Given the description of an element on the screen output the (x, y) to click on. 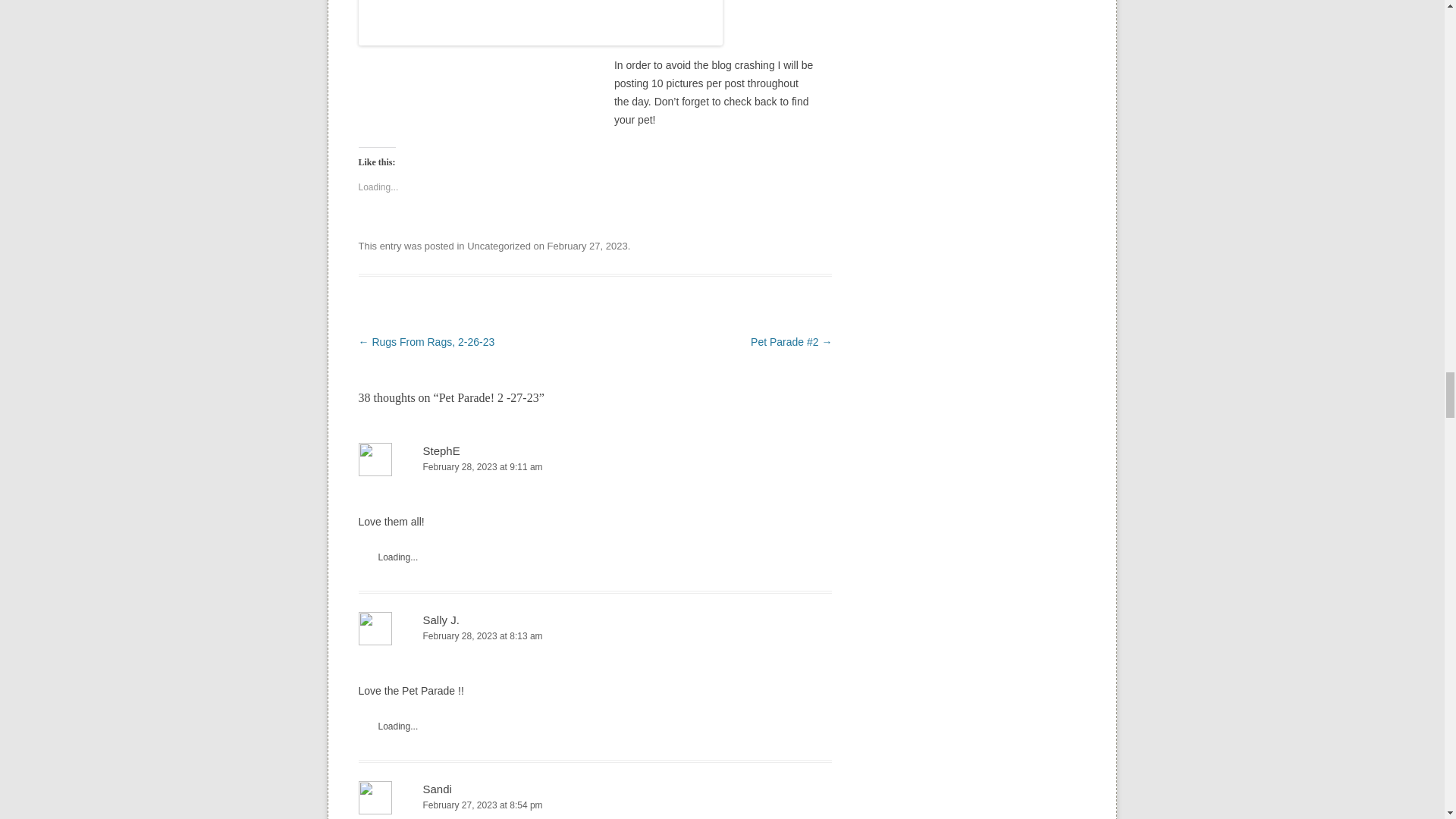
February 27, 2023 (587, 245)
February 28, 2023 at 9:11 am (594, 467)
Sally J. (441, 619)
Uncategorized (499, 245)
February 27, 2023 at 8:54 pm (594, 805)
9:17 am (587, 245)
February 28, 2023 at 8:13 am (594, 636)
